Given the description of an element on the screen output the (x, y) to click on. 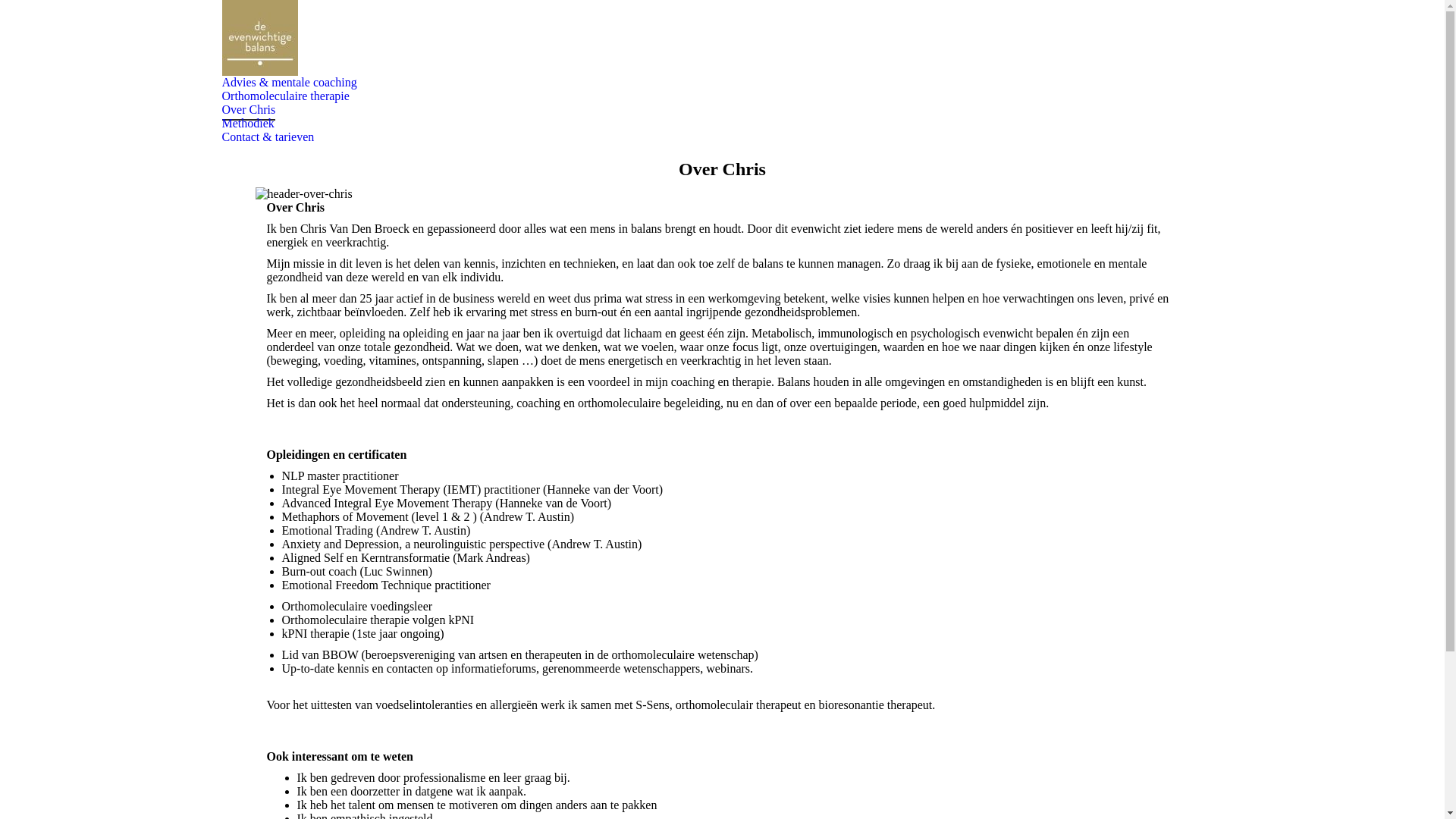
Contact & tarieven Element type: text (267, 137)
Orthomoleculaire therapie Element type: text (284, 96)
header-over-chris Element type: hover (302, 193)
Advies & mentale coaching Element type: text (288, 82)
Methodiek Element type: text (247, 123)
Over Chris Element type: text (248, 109)
